Given the description of an element on the screen output the (x, y) to click on. 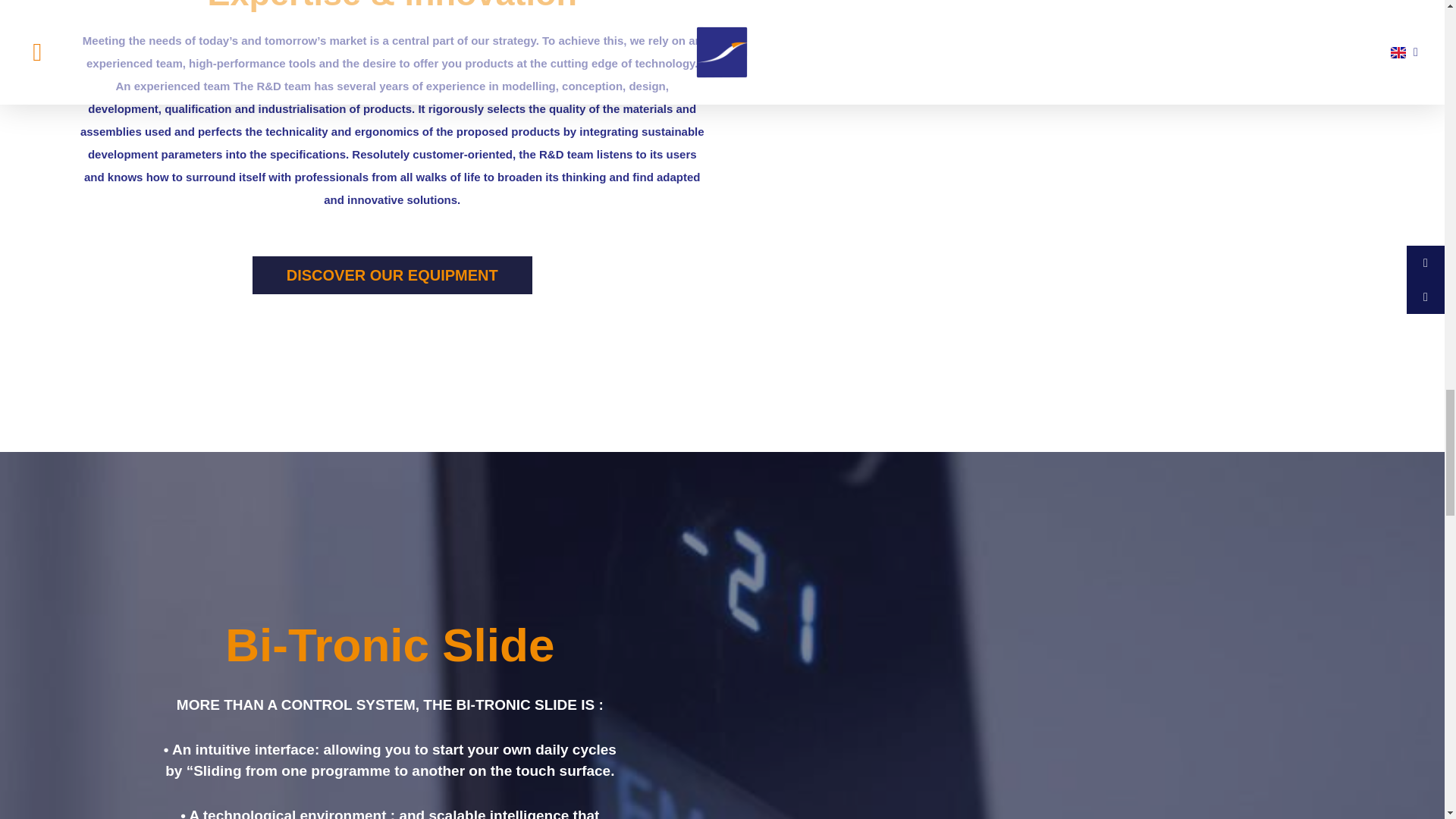
DISCOVER OUR EQUIPMENT (391, 275)
